Given the description of an element on the screen output the (x, y) to click on. 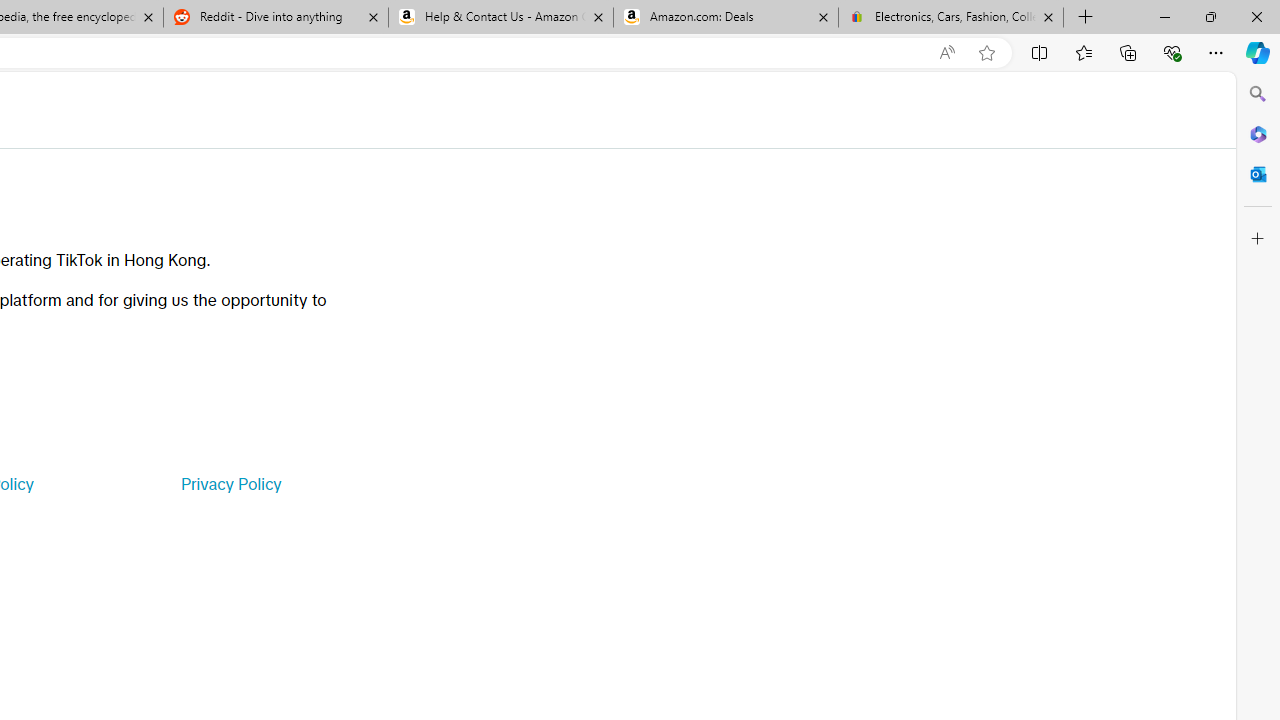
Amazon.com: Deals (726, 17)
